Given the description of an element on the screen output the (x, y) to click on. 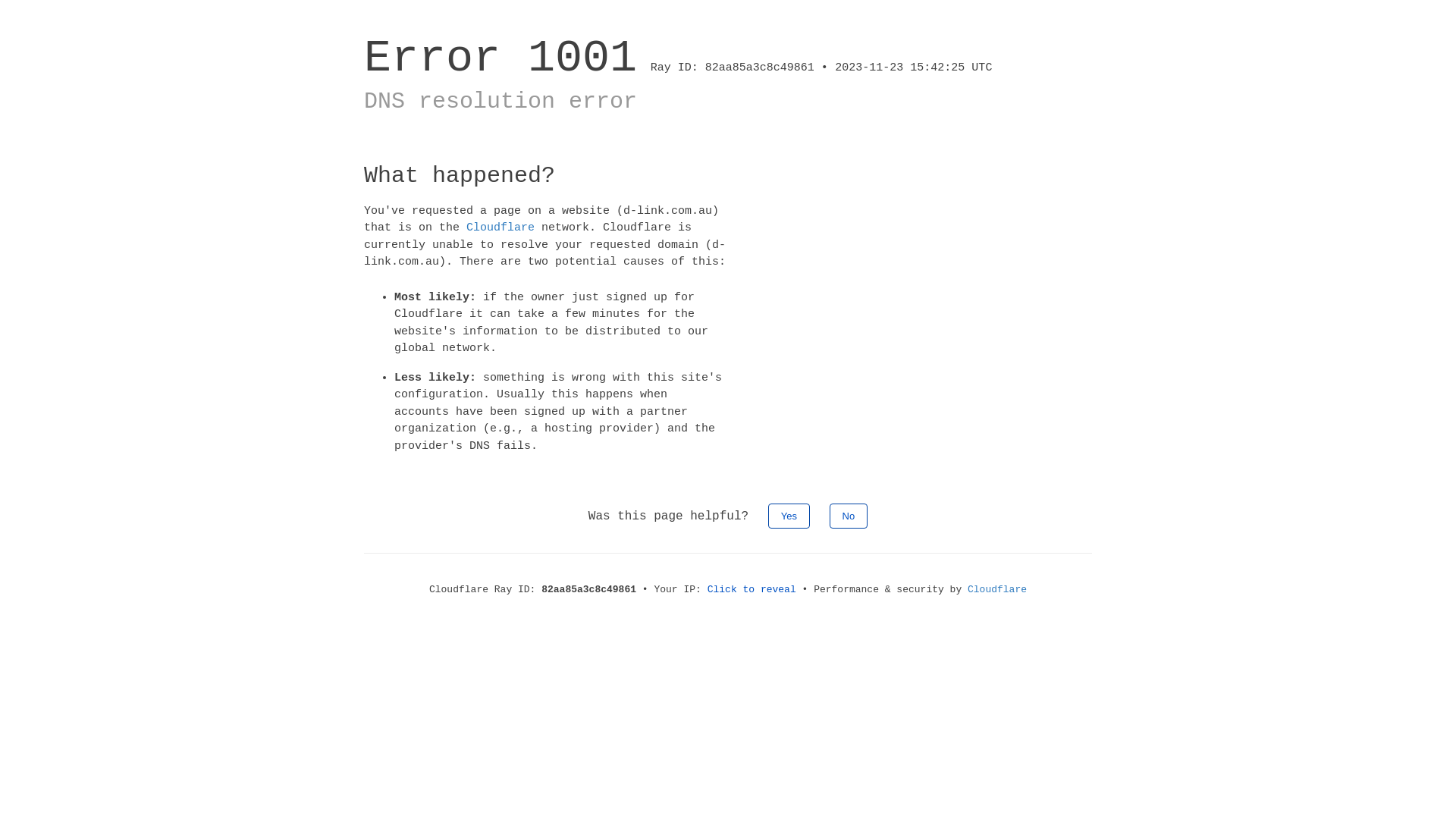
Yes Element type: text (788, 515)
Cloudflare Element type: text (996, 589)
Click to reveal Element type: text (751, 589)
No Element type: text (848, 515)
Cloudflare Element type: text (500, 227)
